Given the description of an element on the screen output the (x, y) to click on. 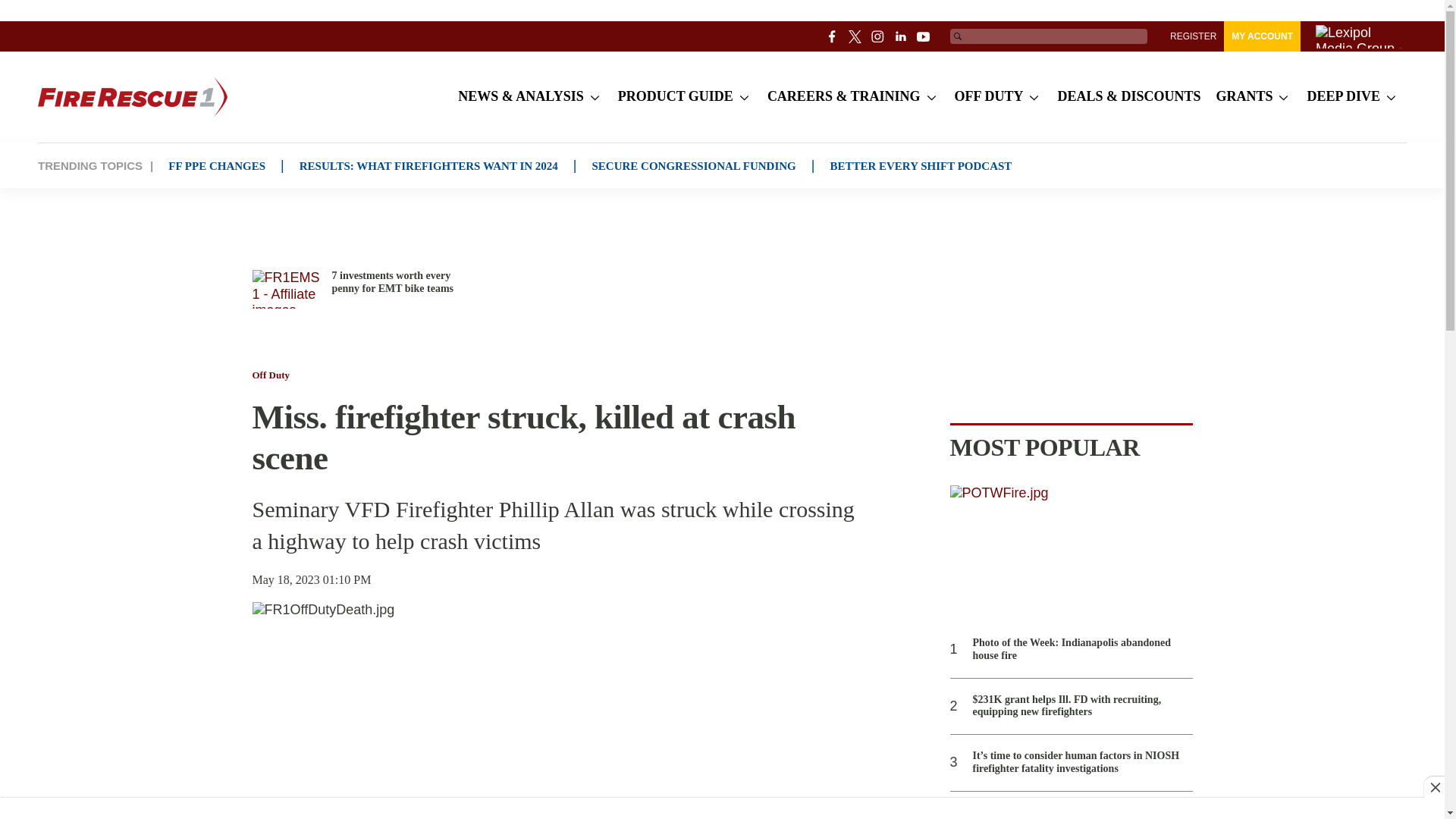
facebook (832, 36)
linkedin (900, 36)
twitter (855, 36)
instagram (877, 36)
REGISTER (1192, 36)
MY ACCOUNT (1262, 36)
youtube (923, 36)
